Given the description of an element on the screen output the (x, y) to click on. 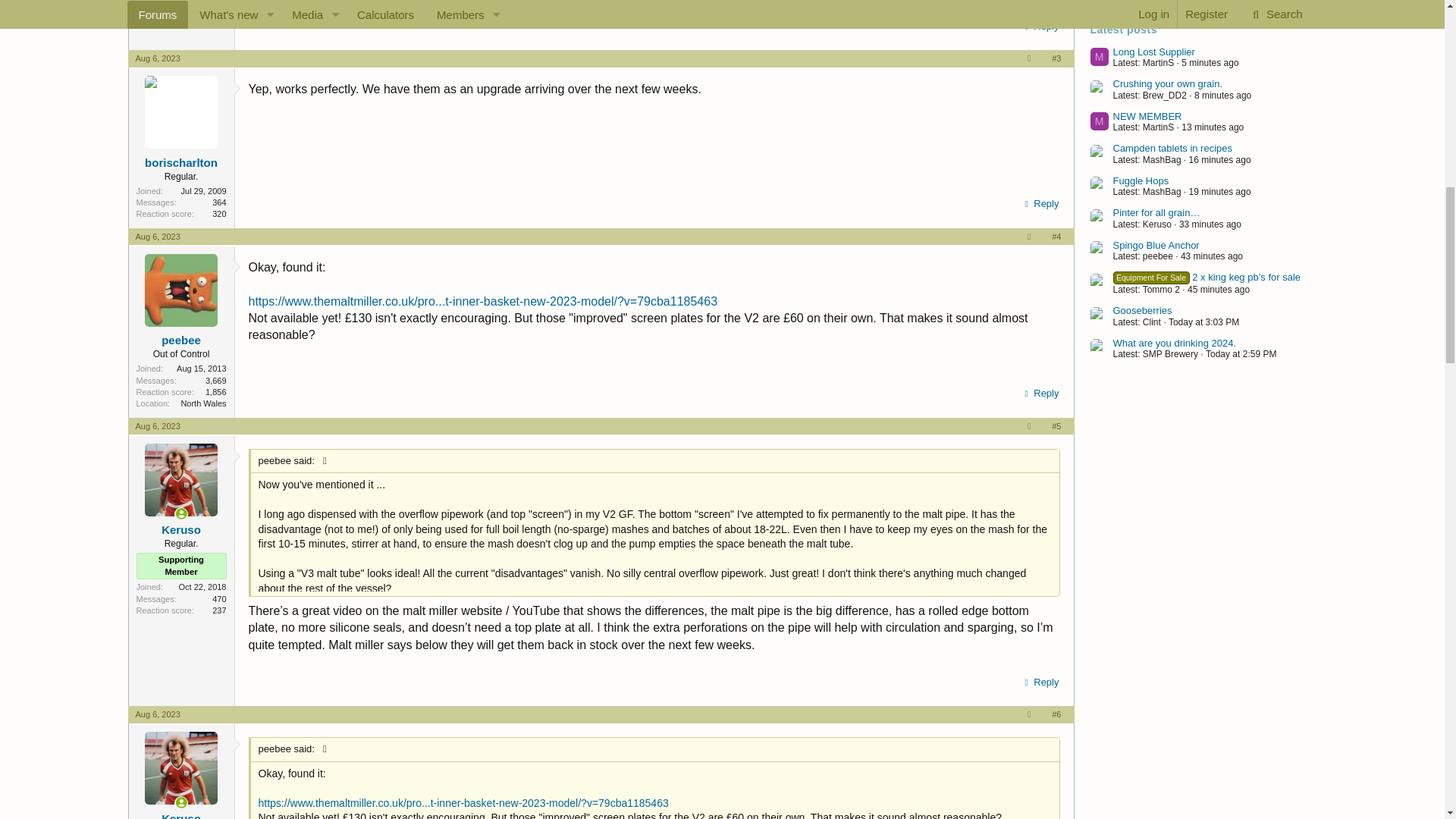
Online now (181, 513)
Reply, quoting this message (1039, 26)
Aug 6, 2023 at 12:44 PM (157, 235)
Aug 6, 2023 at 1:39 PM (157, 425)
Reply, quoting this message (1039, 203)
Aug 6, 2023 at 12:42 PM (157, 58)
Reply, quoting this message (1039, 393)
